Given the description of an element on the screen output the (x, y) to click on. 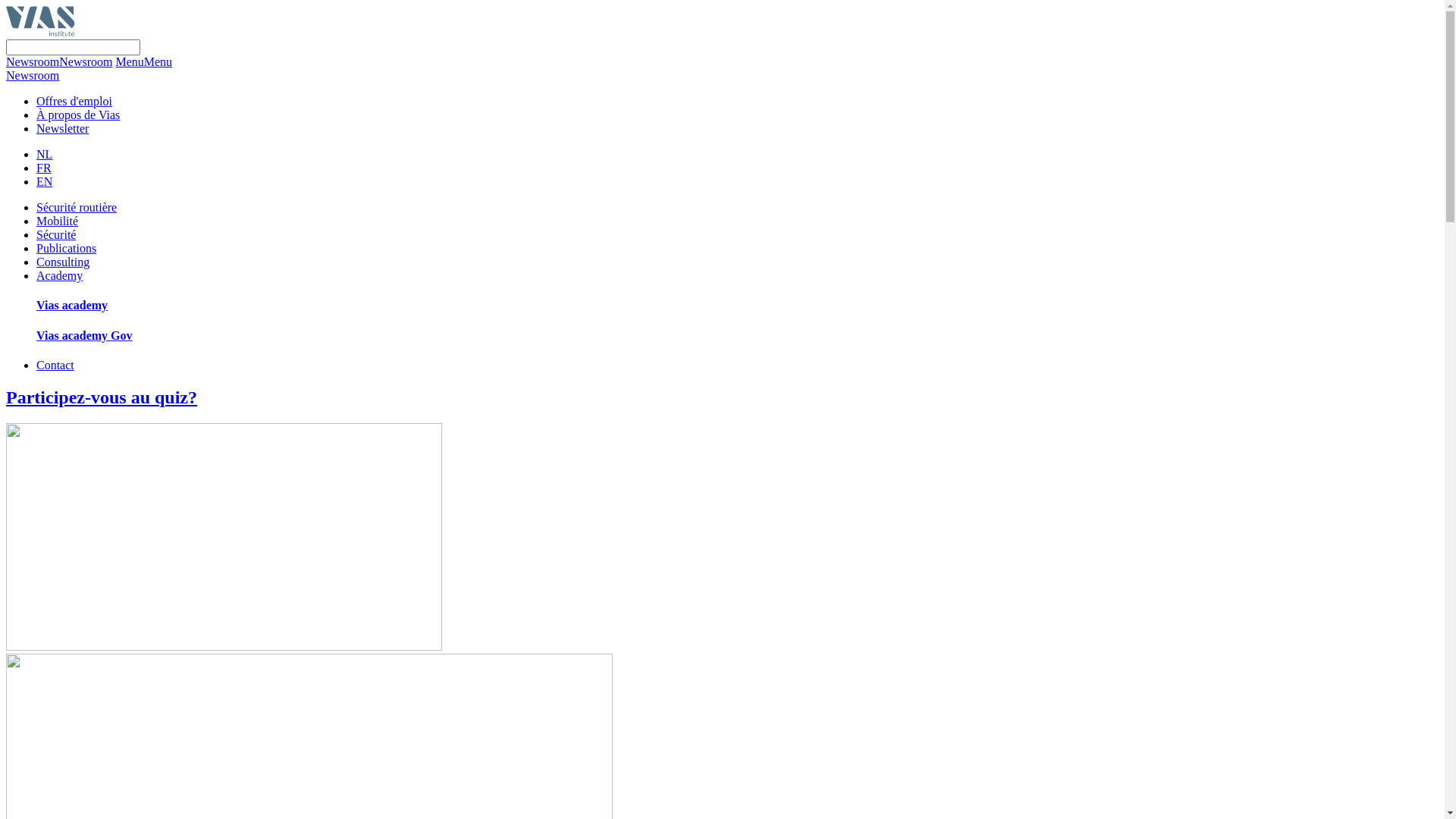
Offres d'emploi Element type: text (74, 100)
Vias academy Gov Element type: text (84, 335)
Publications Element type: text (66, 247)
FR Element type: text (43, 167)
Contact Element type: text (55, 364)
Newsletter Element type: text (62, 128)
Newsroom Element type: text (32, 75)
EN Element type: text (44, 181)
MenuMenu Element type: text (143, 61)
Participez-vous au quiz? Element type: text (722, 520)
Consulting Element type: text (62, 261)
NL Element type: text (44, 153)
Academy Element type: text (59, 275)
NewsroomNewsroom Element type: text (59, 61)
Vias academy Element type: text (71, 304)
